Given the description of an element on the screen output the (x, y) to click on. 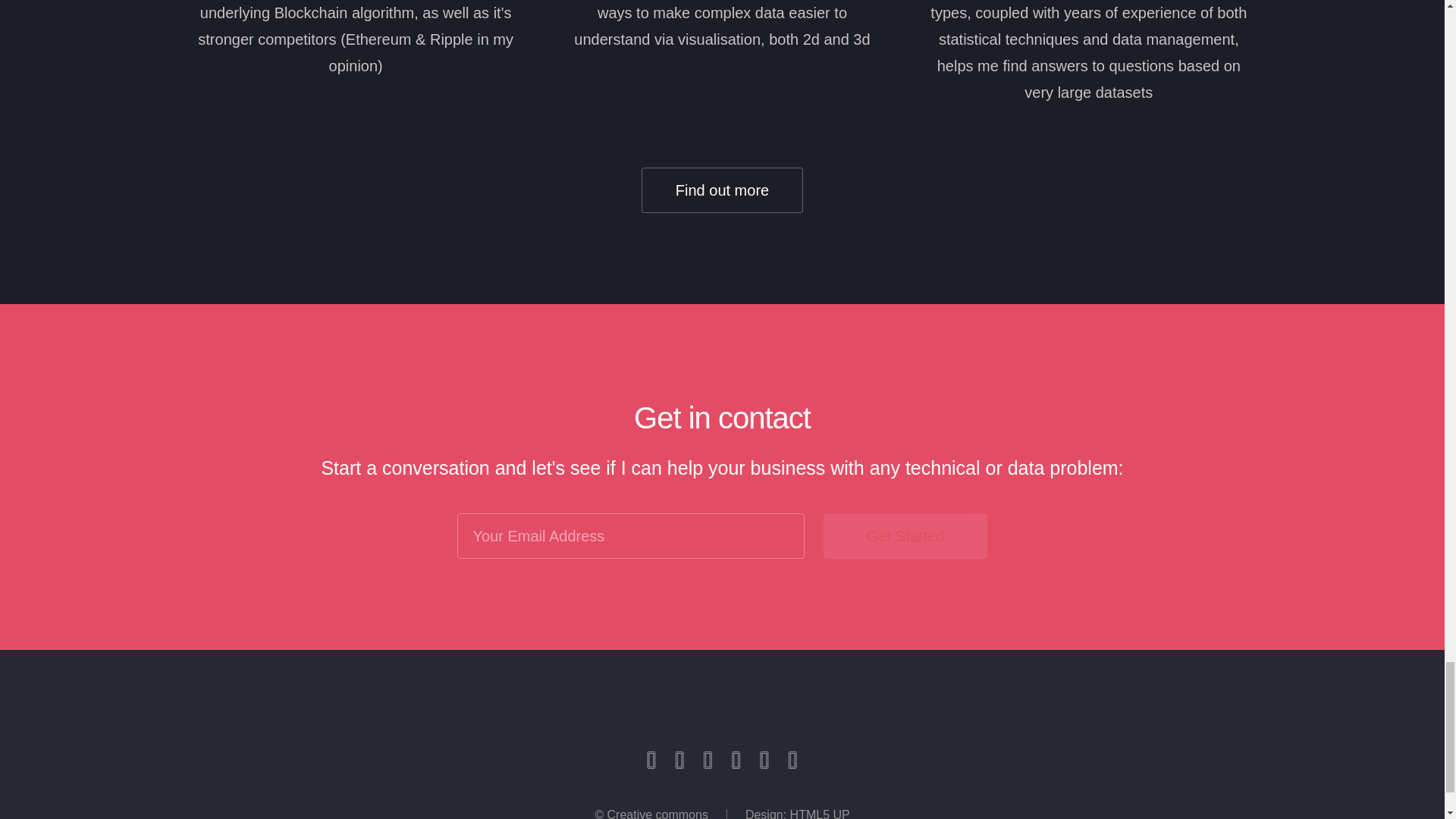
HTML5 UP (820, 813)
Find out more (722, 189)
Get Started (906, 535)
Get Started (906, 535)
